Given the description of an element on the screen output the (x, y) to click on. 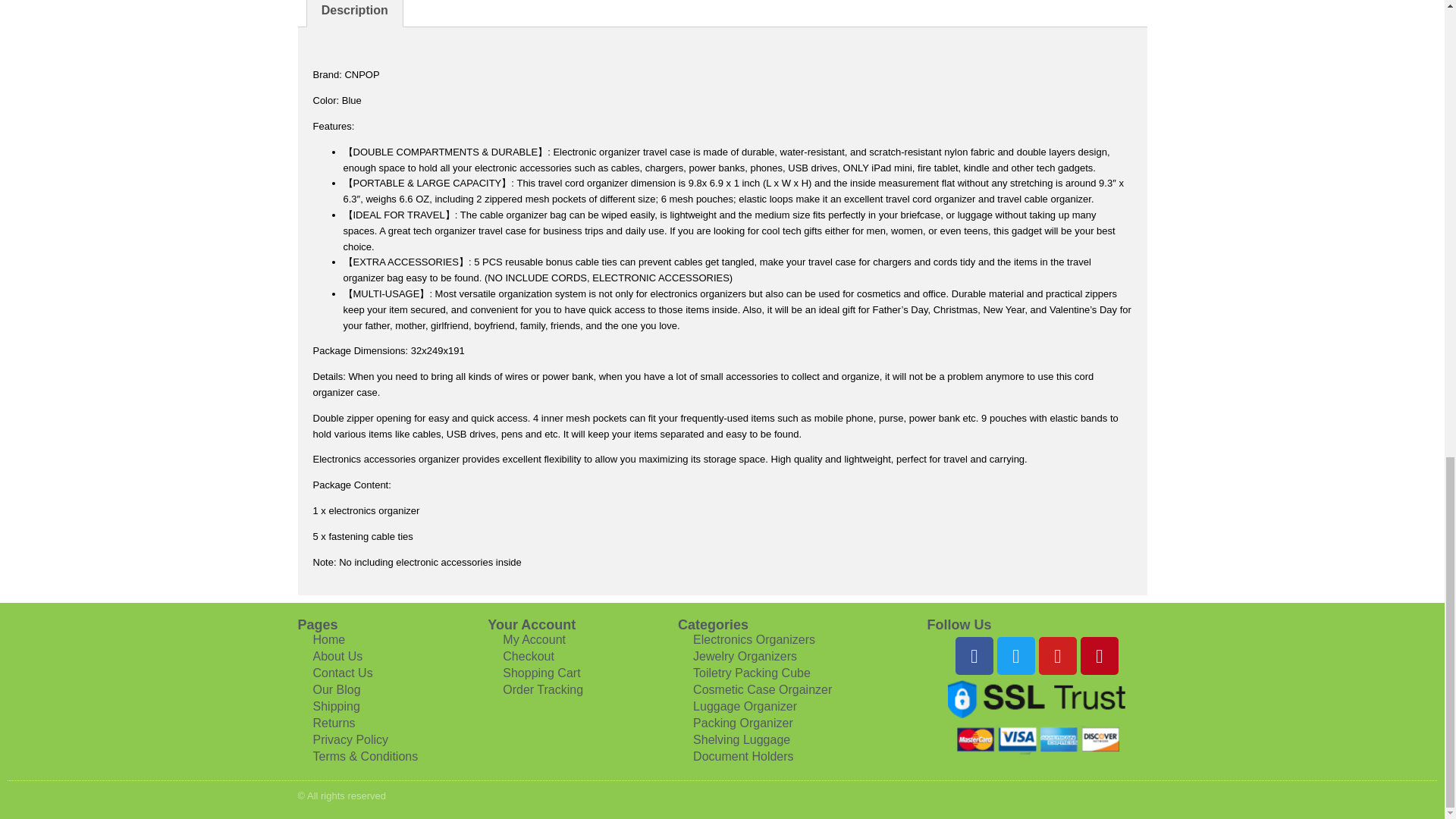
Home (364, 639)
Contact Us (364, 673)
Description (353, 13)
About Us (364, 656)
